Given the description of an element on the screen output the (x, y) to click on. 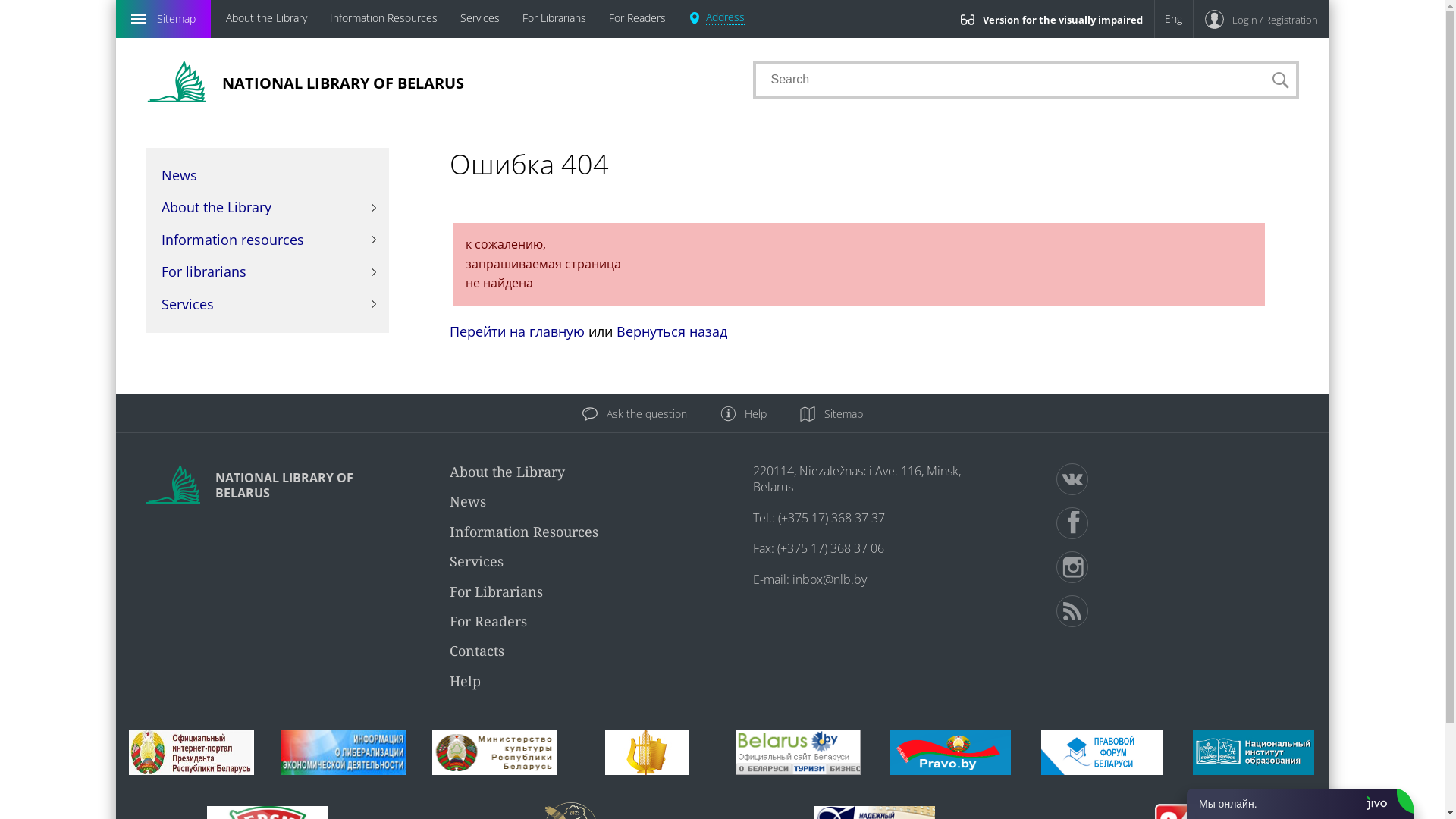
/> Element type: text (1176, 523)
Information Resources Element type: text (382, 18)
 Services Element type: text (266, 304)
Ask the question Element type: text (634, 413)
NATIONAL LIBRARY OF BELARUS Element type: text (433, 81)
Help Element type: text (464, 680)
For Librarians Element type: text (553, 18)
Sitemap Element type: text (830, 413)
News Element type: text (466, 501)
Login / Registration Element type: text (1261, 18)
For Readers Element type: text (636, 18)
 Information resources Element type: text (266, 239)
Help Element type: text (743, 413)
Services Element type: text (479, 18)
 About the Library Element type: text (266, 206)
About the Library Element type: text (506, 471)
 For librarians Element type: text (266, 271)
Address Element type: text (716, 18)
NATIONAL LIBRARY OF BELARUS Element type: text (266, 484)
About the Library Element type: text (266, 18)
inbox@nlb.by Element type: text (828, 579)
Version for the visually impaired Element type: text (1051, 18)
Information Resources Element type: text (522, 531)
Eng Element type: text (1173, 18)
Contacts Element type: text (475, 650)
Services Element type: text (475, 561)
For Readers Element type: text (487, 620)
For Librarians Element type: text (495, 591)
(+375 17) 368 37 37 Element type: text (831, 517)
News Element type: text (266, 175)
